Given the description of an element on the screen output the (x, y) to click on. 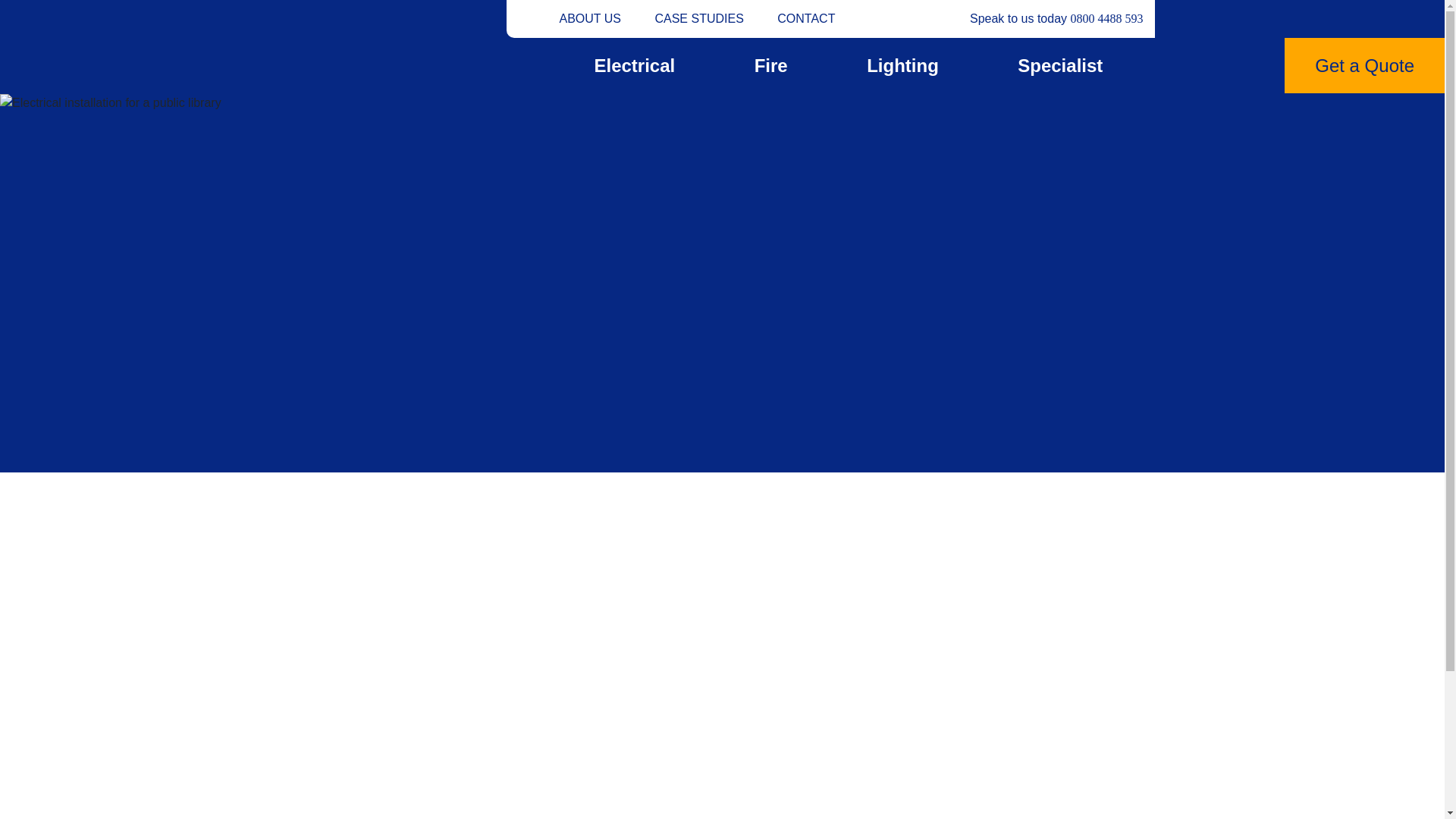
Fire (751, 65)
About Us (590, 18)
Lighting (883, 65)
Case Studies (697, 18)
Electrical (615, 65)
Get a Quote (1364, 65)
Fire (751, 65)
Electrical (615, 65)
CONTACT (805, 18)
CASE STUDIES (697, 18)
Contact (805, 18)
Specialist (1040, 65)
ABOUT US (590, 18)
Lighting (883, 65)
